Given the description of an element on the screen output the (x, y) to click on. 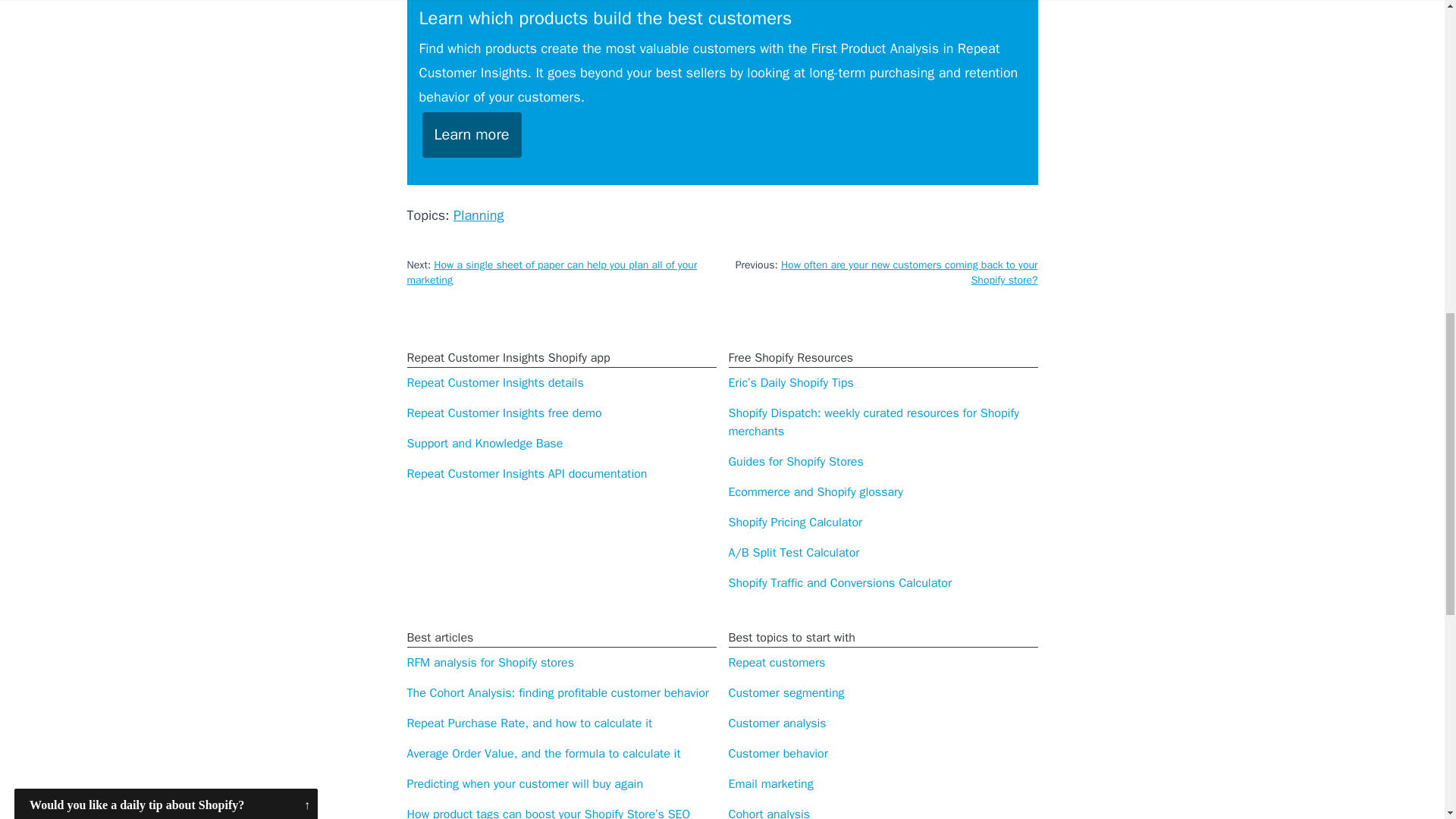
Planning (477, 215)
Subscribe (165, 121)
Learn more (471, 135)
Repeat Customer Insights details (494, 382)
Repeat Customer Insights free demo (503, 412)
